Given the description of an element on the screen output the (x, y) to click on. 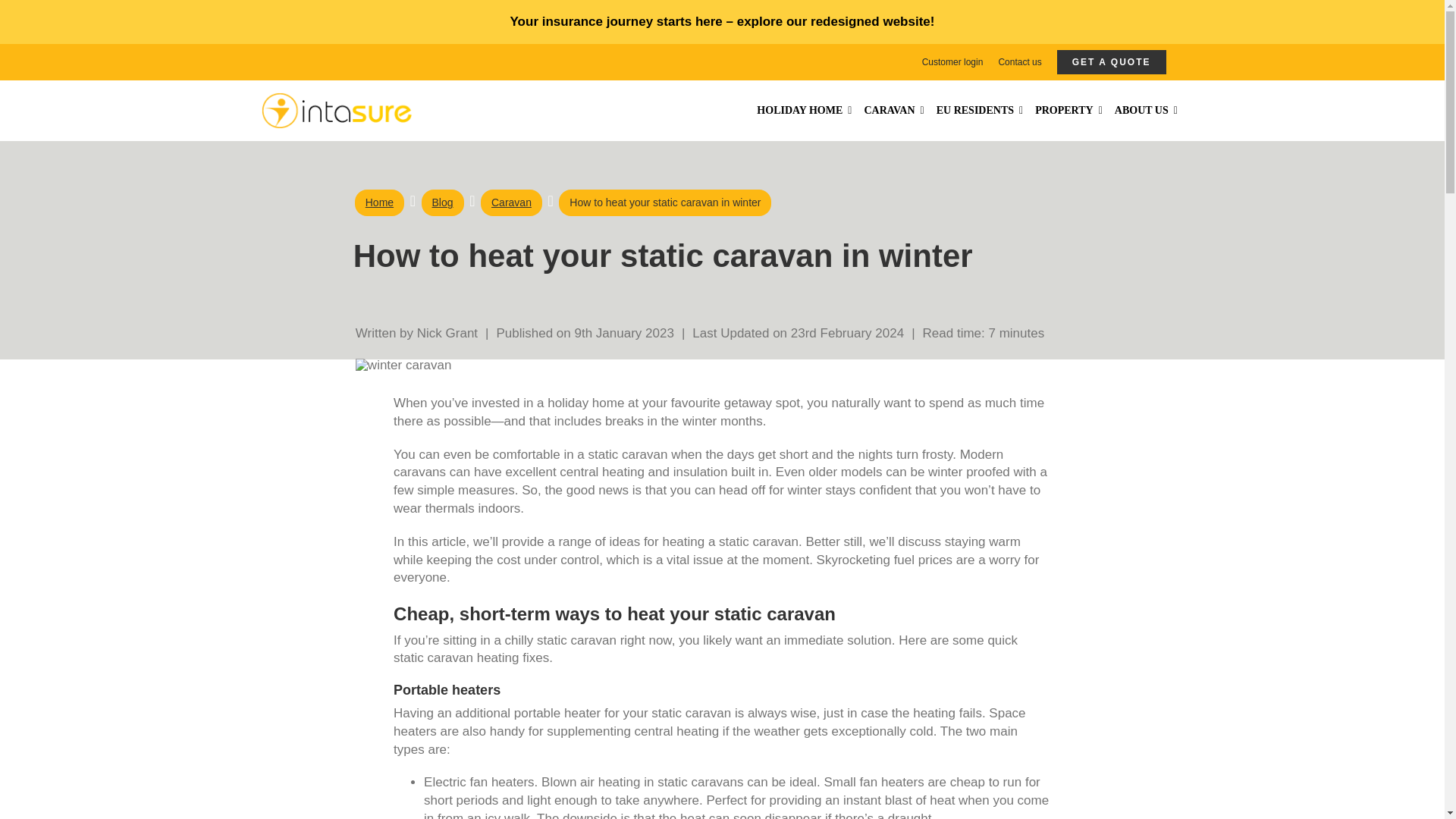
Customer login (952, 62)
ABOUT US (1145, 110)
CARAVAN (893, 110)
PROPERTY (1068, 110)
GET A QUOTE (1111, 61)
HOLIDAY HOME (804, 110)
EU RESIDENTS (979, 110)
Holiday Homes (804, 110)
Contact us (1019, 62)
Caravan (893, 110)
